Given the description of an element on the screen output the (x, y) to click on. 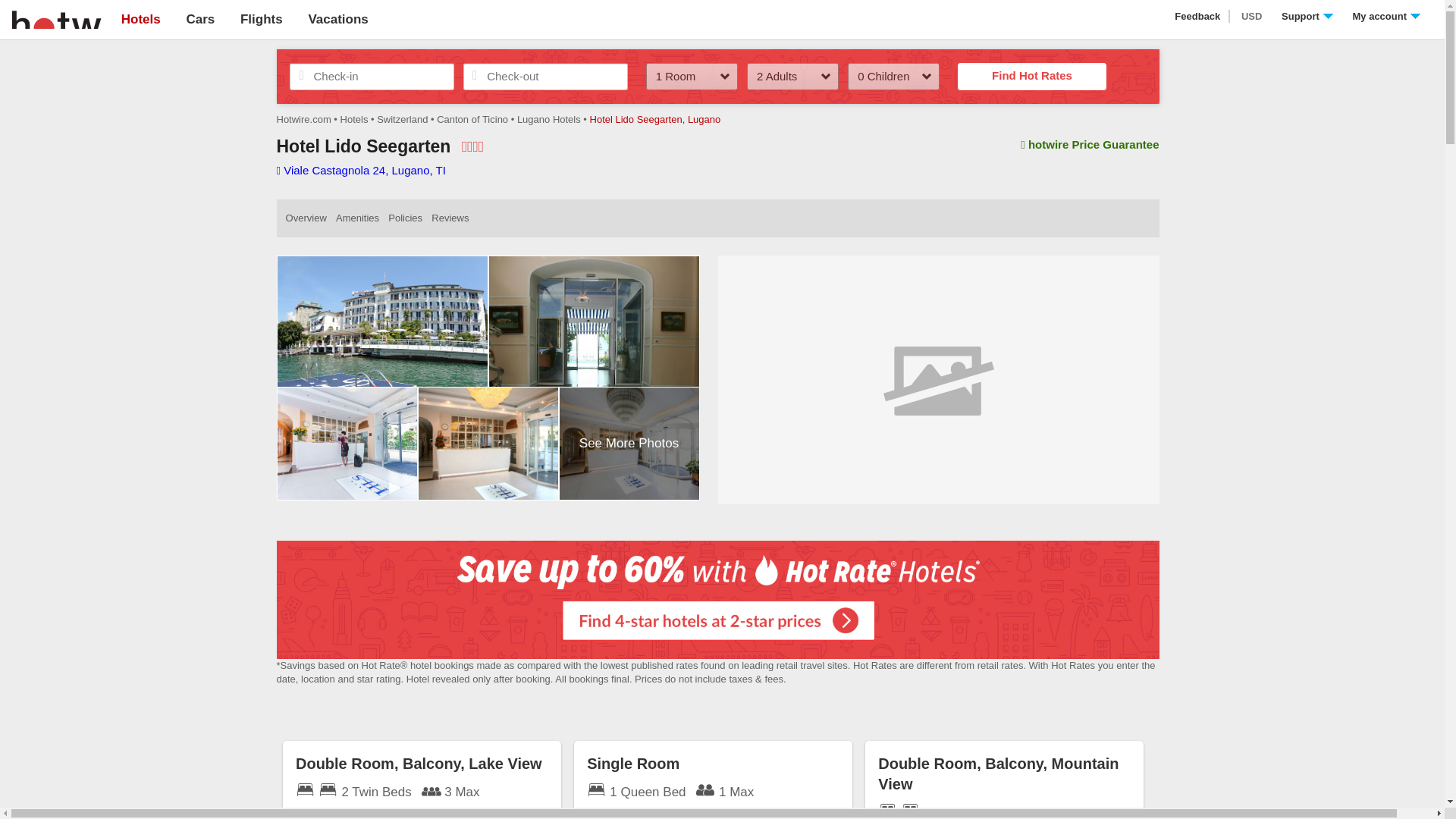
Flights (261, 19)
Hotels (140, 19)
Vacations (337, 19)
4.0 (472, 146)
My account (1386, 16)
Feedback (1198, 16)
Cars (200, 19)
Support (1307, 16)
Hotwire (56, 18)
